Given the description of an element on the screen output the (x, y) to click on. 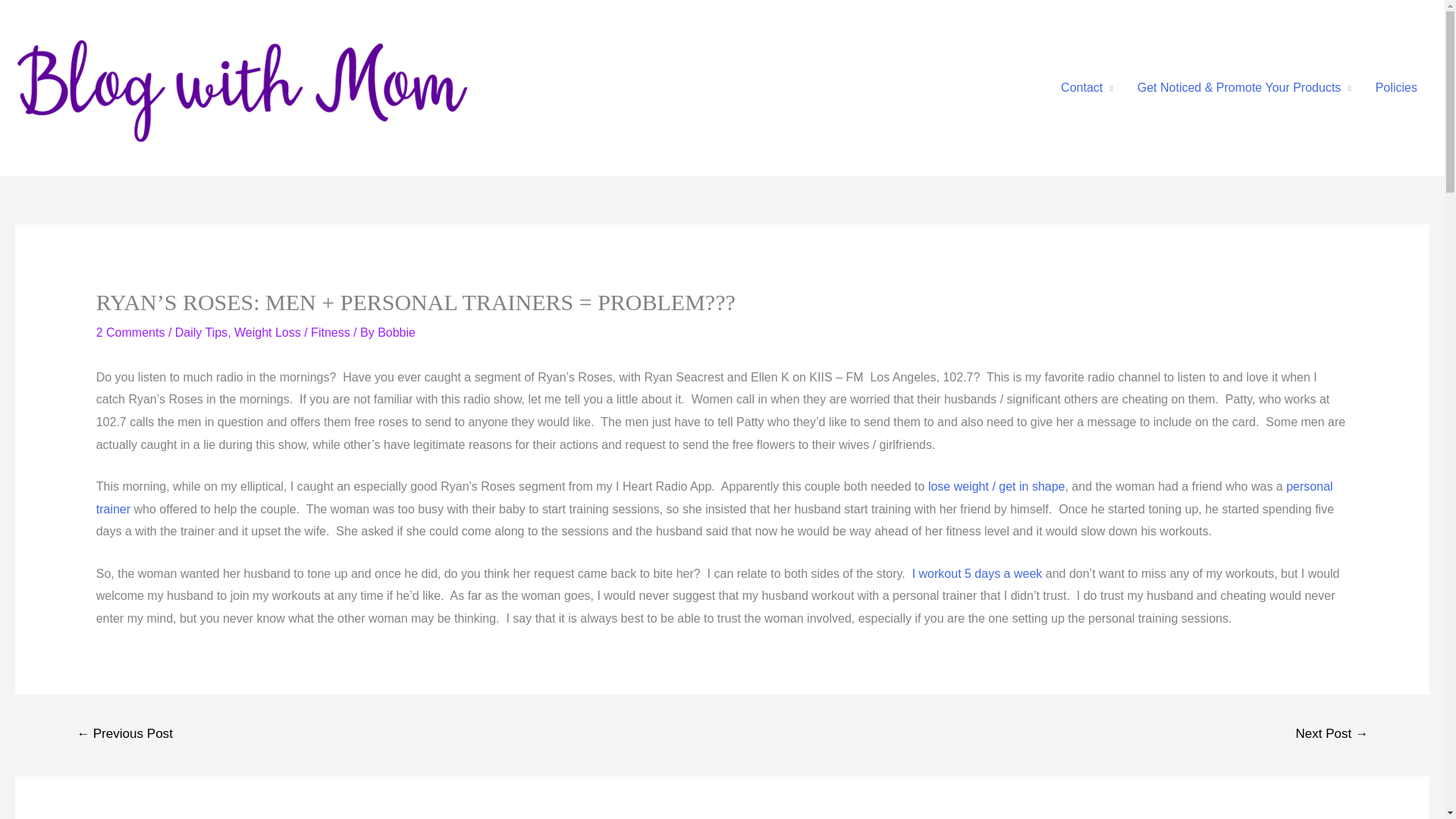
2 Comments (130, 332)
I workout 5 days a week (977, 573)
Contact (1086, 87)
View all posts by Bobbie (395, 332)
Policies (1395, 87)
Daily Tips (200, 332)
Bobbie (395, 332)
personal trainer (714, 497)
